Given the description of an element on the screen output the (x, y) to click on. 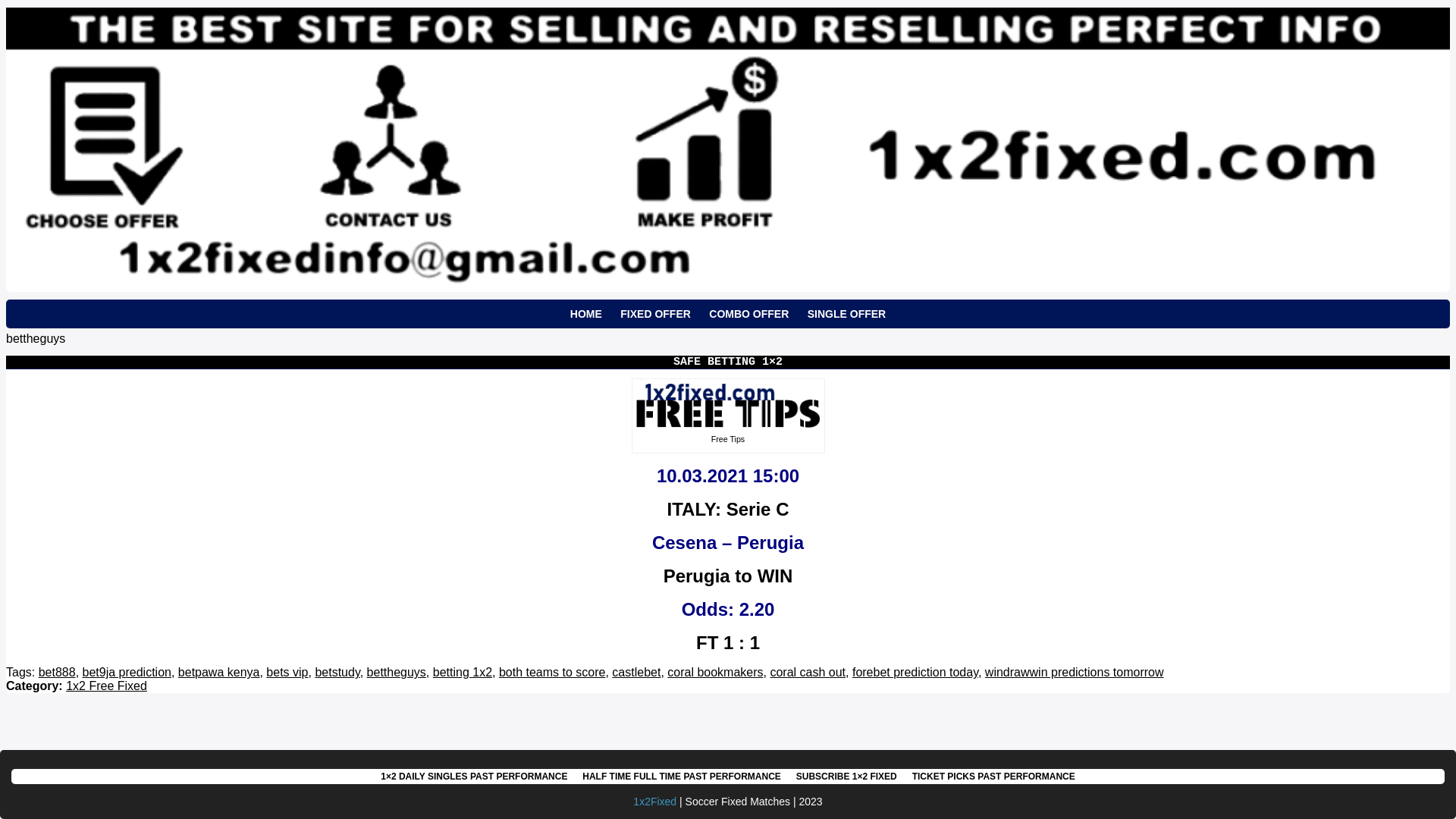
1x2 Free Fixed Element type: text (106, 685)
bet9ja prediction Element type: text (126, 671)
SINGLE OFFER Element type: text (846, 313)
COMBO OFFER Element type: text (748, 313)
HOME Element type: text (585, 313)
TICKET PICKS PAST PERFORMANCE Element type: text (993, 776)
VIP Advice 1x2 Element type: hover (727, 405)
both teams to score Element type: text (551, 671)
betstudy Element type: text (336, 671)
1x2Fixed Element type: text (654, 801)
castlebet Element type: text (635, 671)
bets vip Element type: text (286, 671)
betpawa kenya Element type: text (219, 671)
FIXED OFFER Element type: text (655, 313)
betting 1x2 Element type: text (462, 671)
forebet prediction today Element type: text (915, 671)
HALF TIME FULL TIME PAST PERFORMANCE Element type: text (681, 776)
bettheguys Element type: text (396, 671)
coral cash out Element type: text (807, 671)
coral bookmakers Element type: text (714, 671)
windrawwin predictions tomorrow Element type: text (1074, 671)
bet888 Element type: text (56, 671)
